Given the description of an element on the screen output the (x, y) to click on. 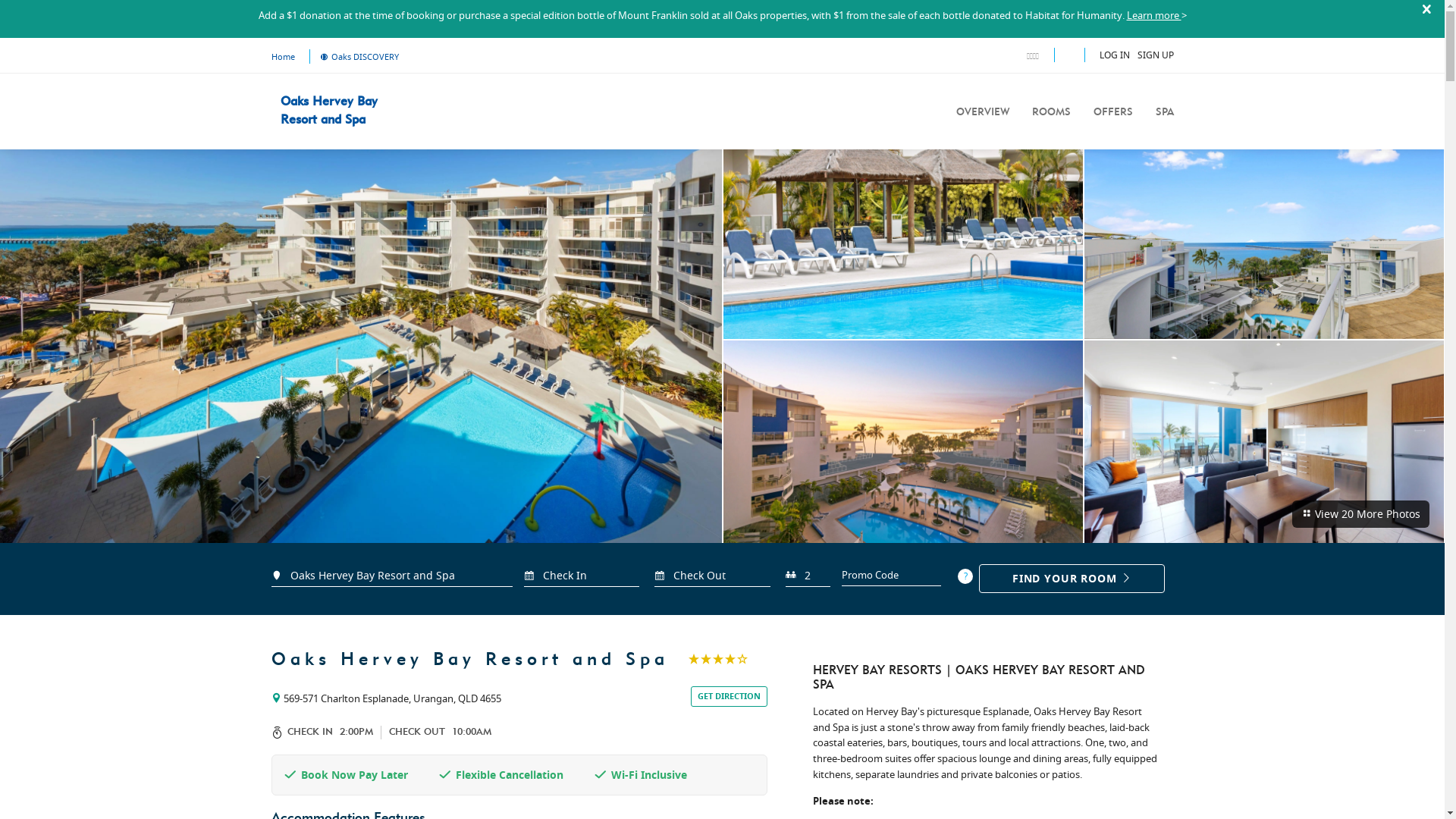
SPA Element type: text (1164, 111)
OFFERS Element type: text (1112, 111)
Home Element type: text (282, 56)
Oaks DISCOVERY Element type: text (353, 56)
OVERVIEW Element type: text (981, 111)
? Element type: text (964, 575)
ROOMS Element type: text (1050, 111)
Oaks Hervey Bay Resort and Spa Element type: text (343, 111)
Learn more  Element type: text (1153, 14)
FIND YOUR ROOM Element type: text (1071, 578)
LOG IN Element type: text (1114, 54)
GET DIRECTION Element type: text (728, 696)
SIGN UP Element type: text (1155, 54)
